Given the description of an element on the screen output the (x, y) to click on. 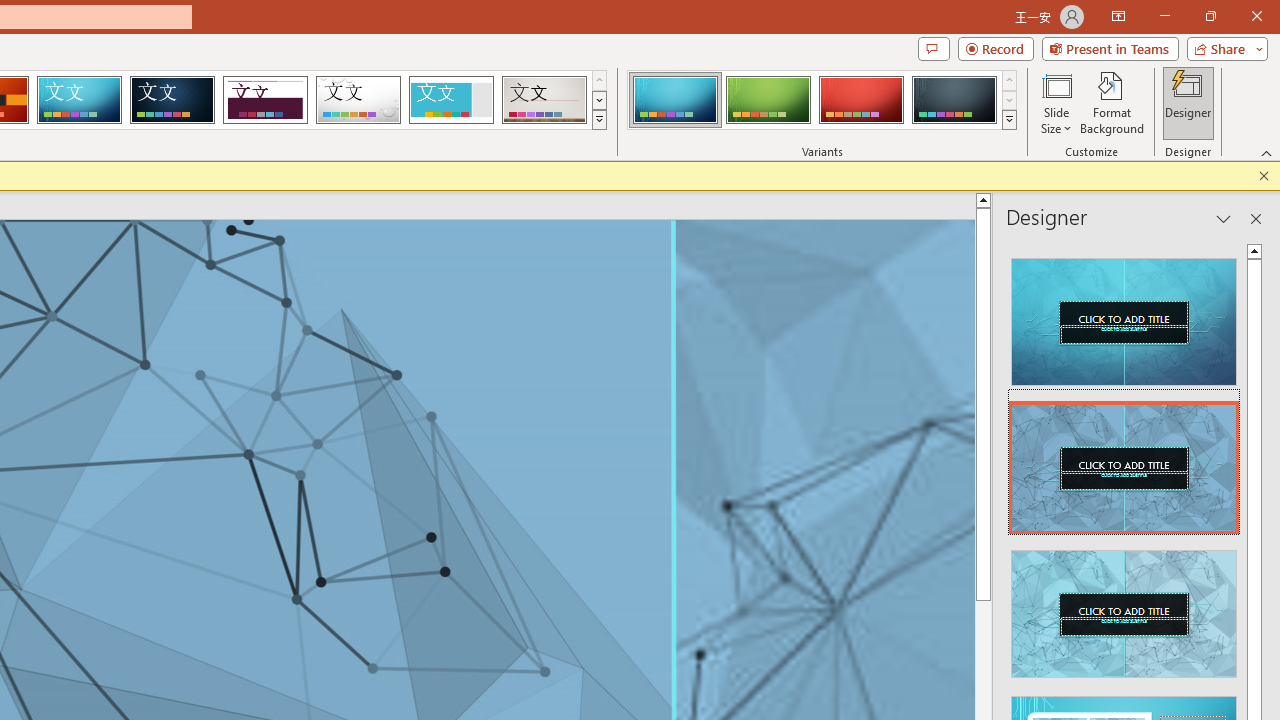
Frame (450, 100)
